Given the description of an element on the screen output the (x, y) to click on. 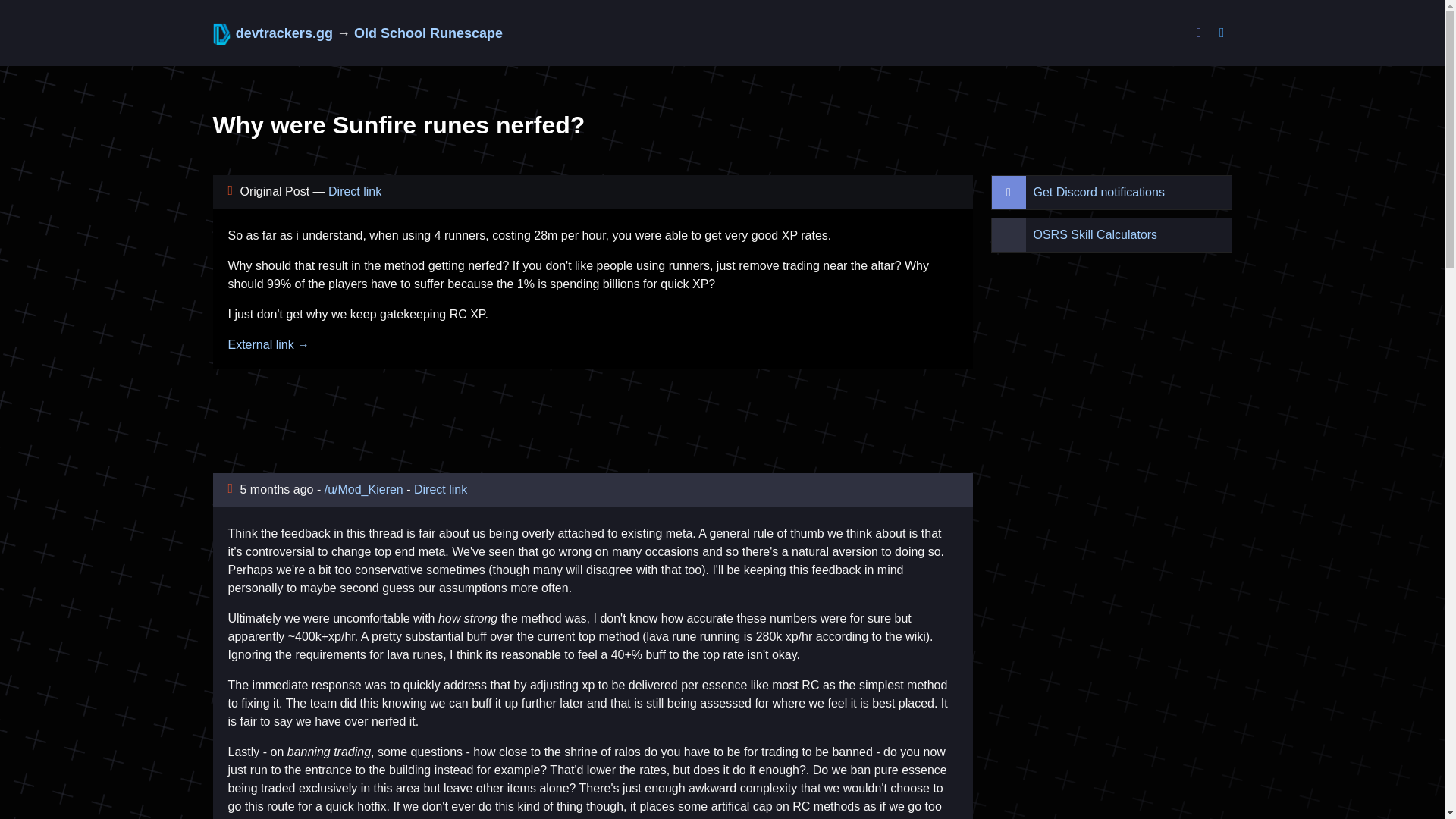
Get Discord notifications (1081, 192)
Direct link (440, 489)
devtrackers.gg (274, 32)
OSRS Skill Calculators (1111, 235)
Why were Sunfire runes nerfed? (398, 124)
Direct link (355, 191)
Old School Runescape (427, 32)
